Given the description of an element on the screen output the (x, y) to click on. 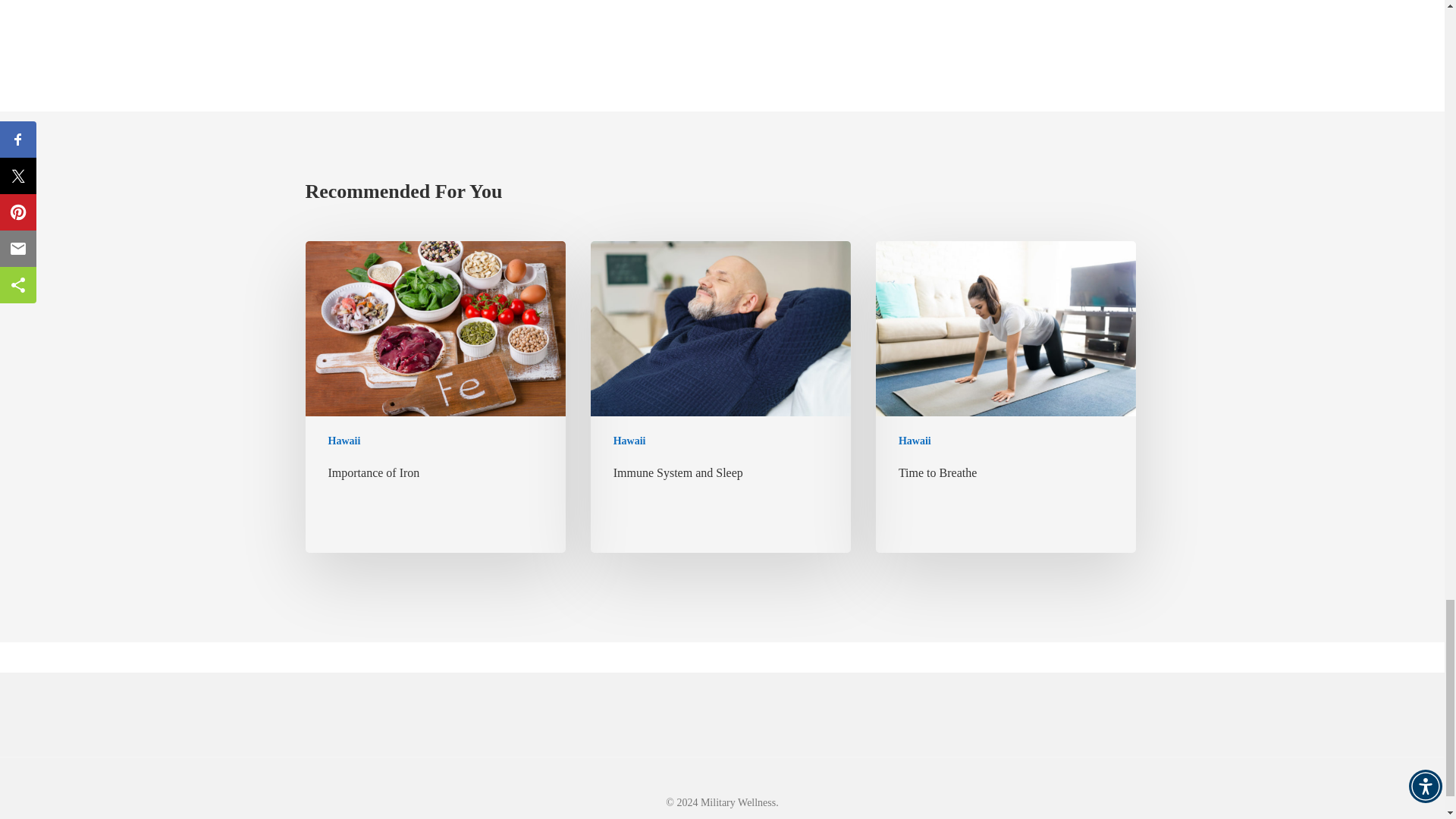
Hawaii (343, 440)
Hawaii (629, 440)
Hawaii (914, 440)
